Given the description of an element on the screen output the (x, y) to click on. 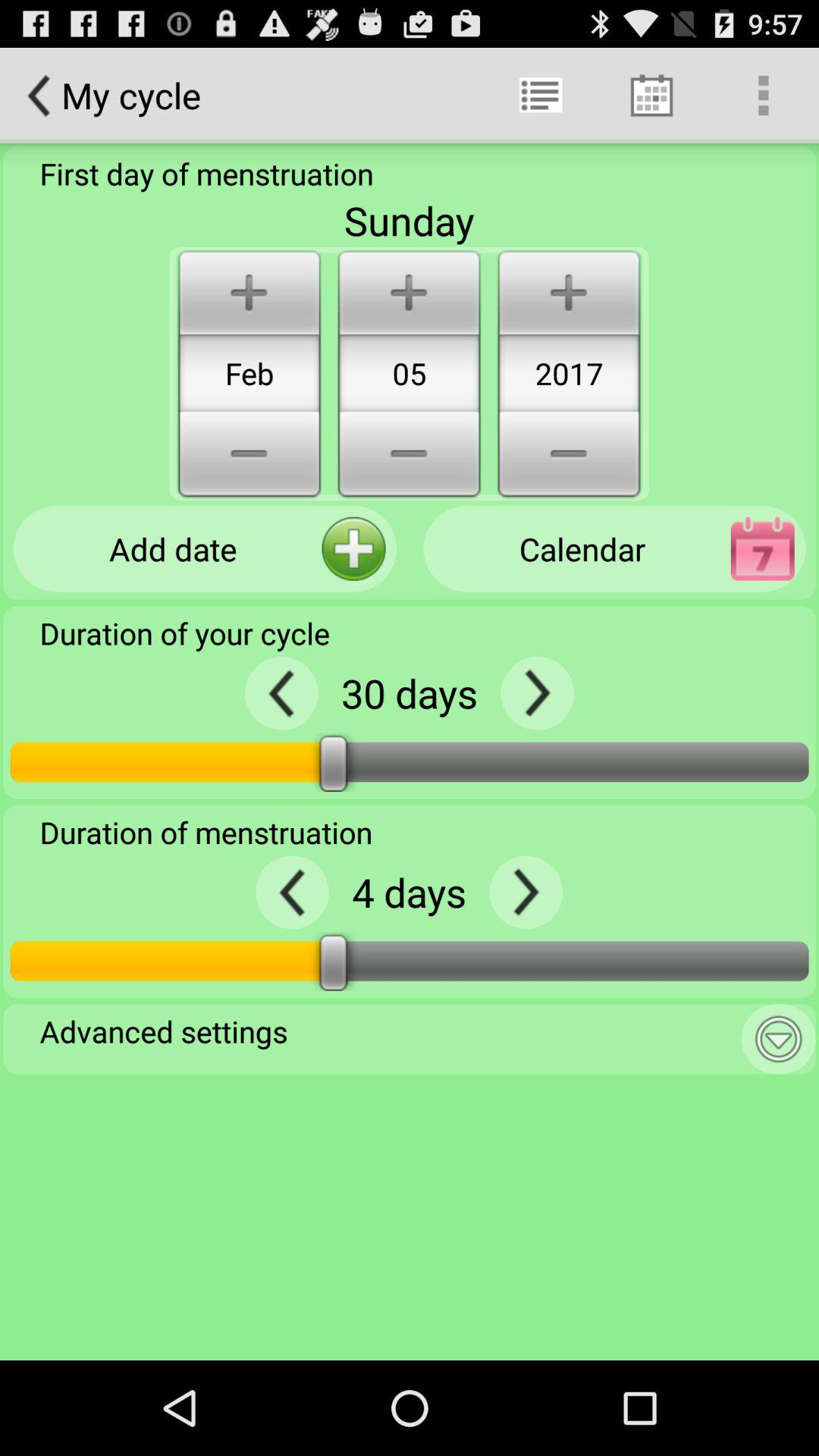
toggle the settings button (778, 1039)
